Given the description of an element on the screen output the (x, y) to click on. 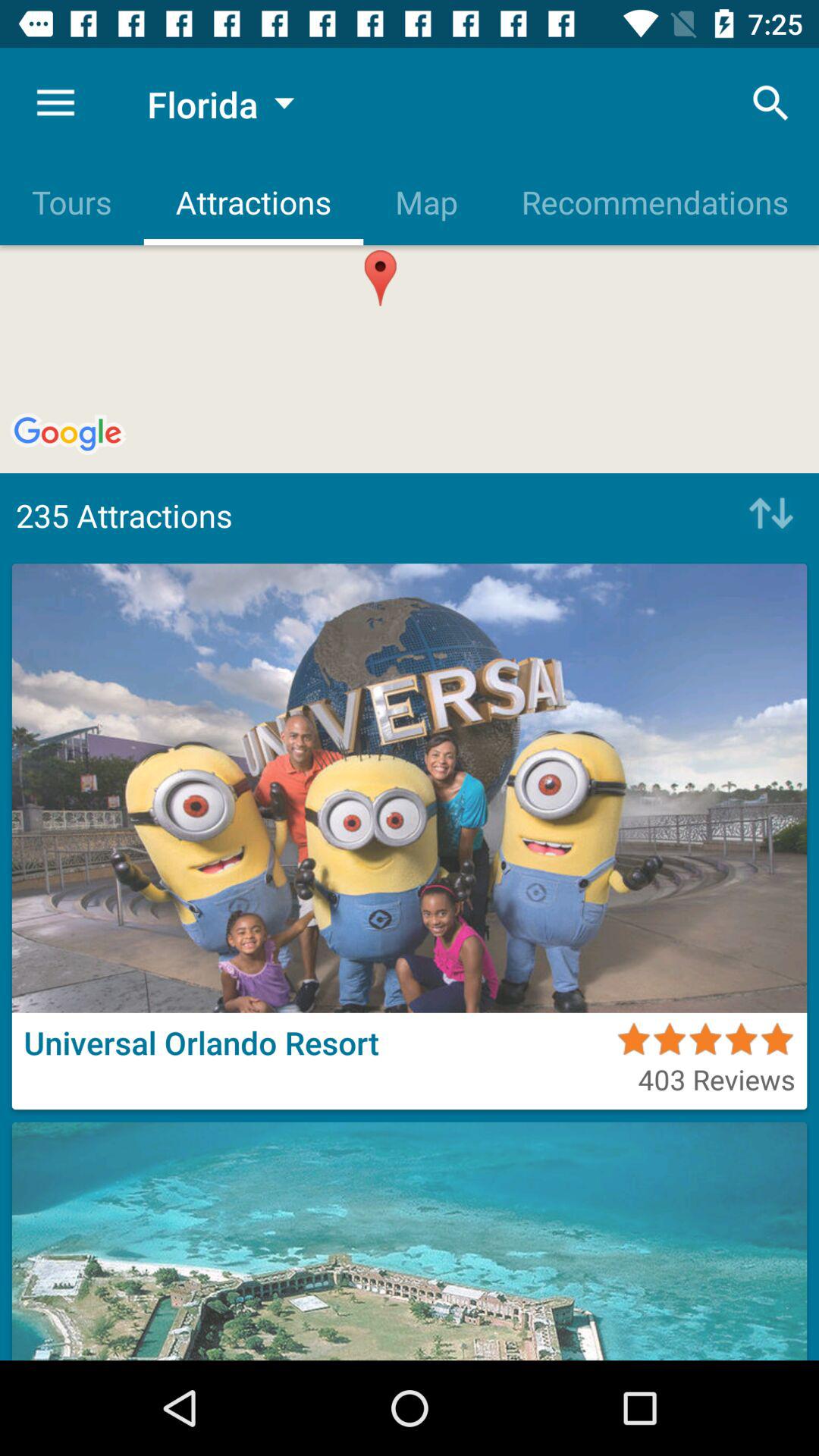
choose icon to the right of the map item (654, 202)
